Given the description of an element on the screen output the (x, y) to click on. 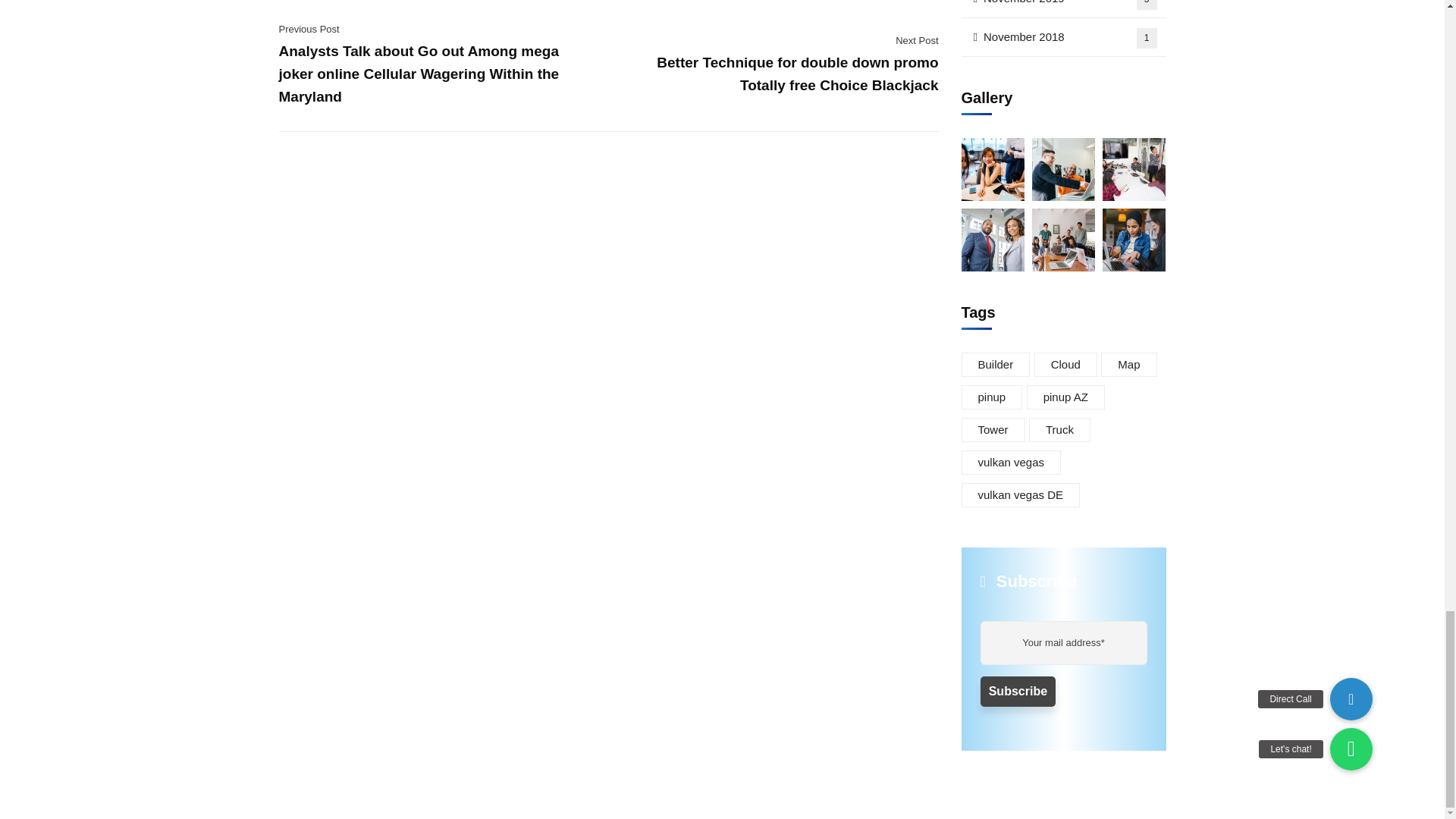
Subscribe (1017, 691)
